Given the description of an element on the screen output the (x, y) to click on. 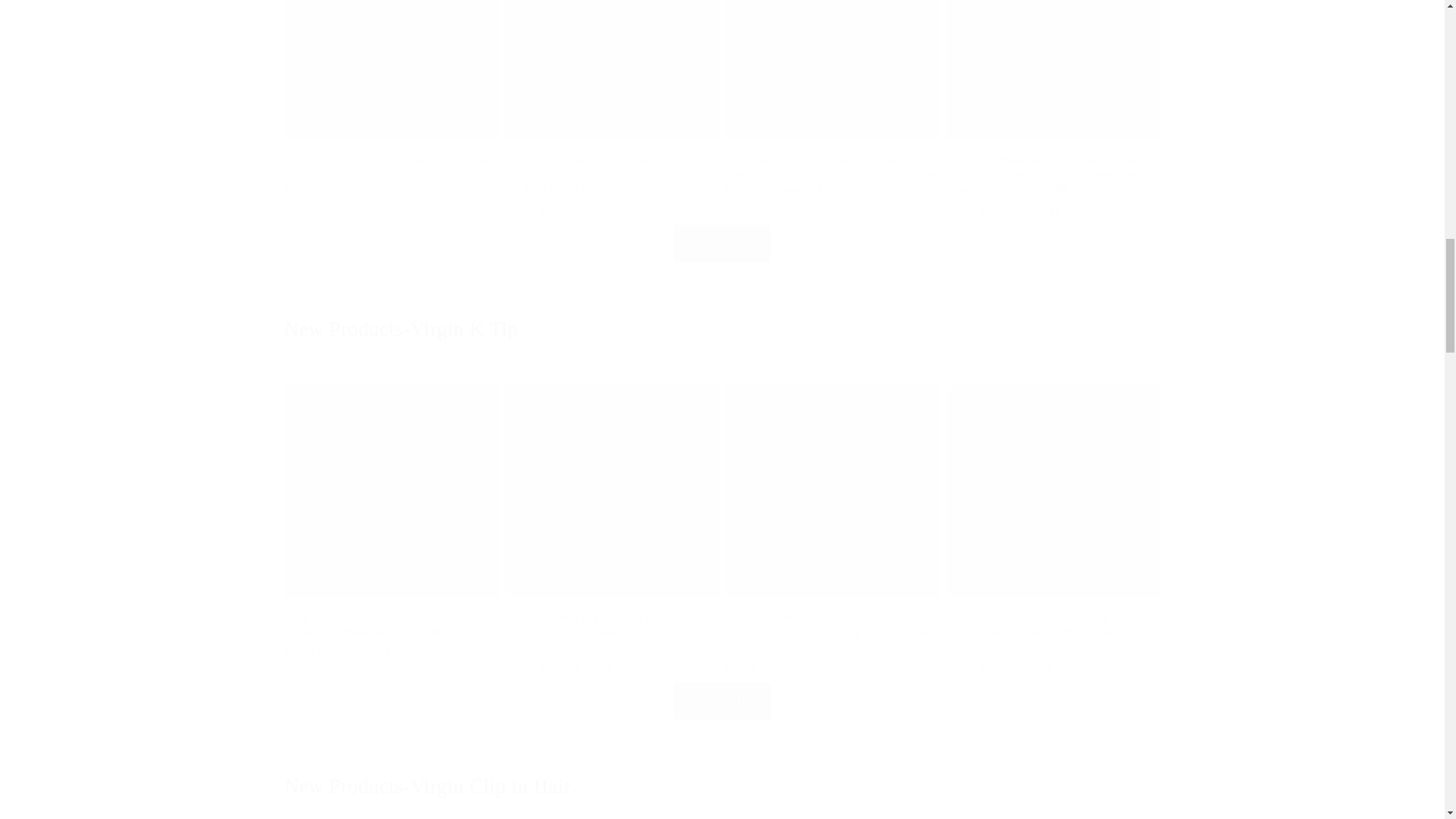
New Products-Virgin K Tip (721, 329)
New Products-Virgin Clip in Hair (721, 786)
